Given the description of an element on the screen output the (x, y) to click on. 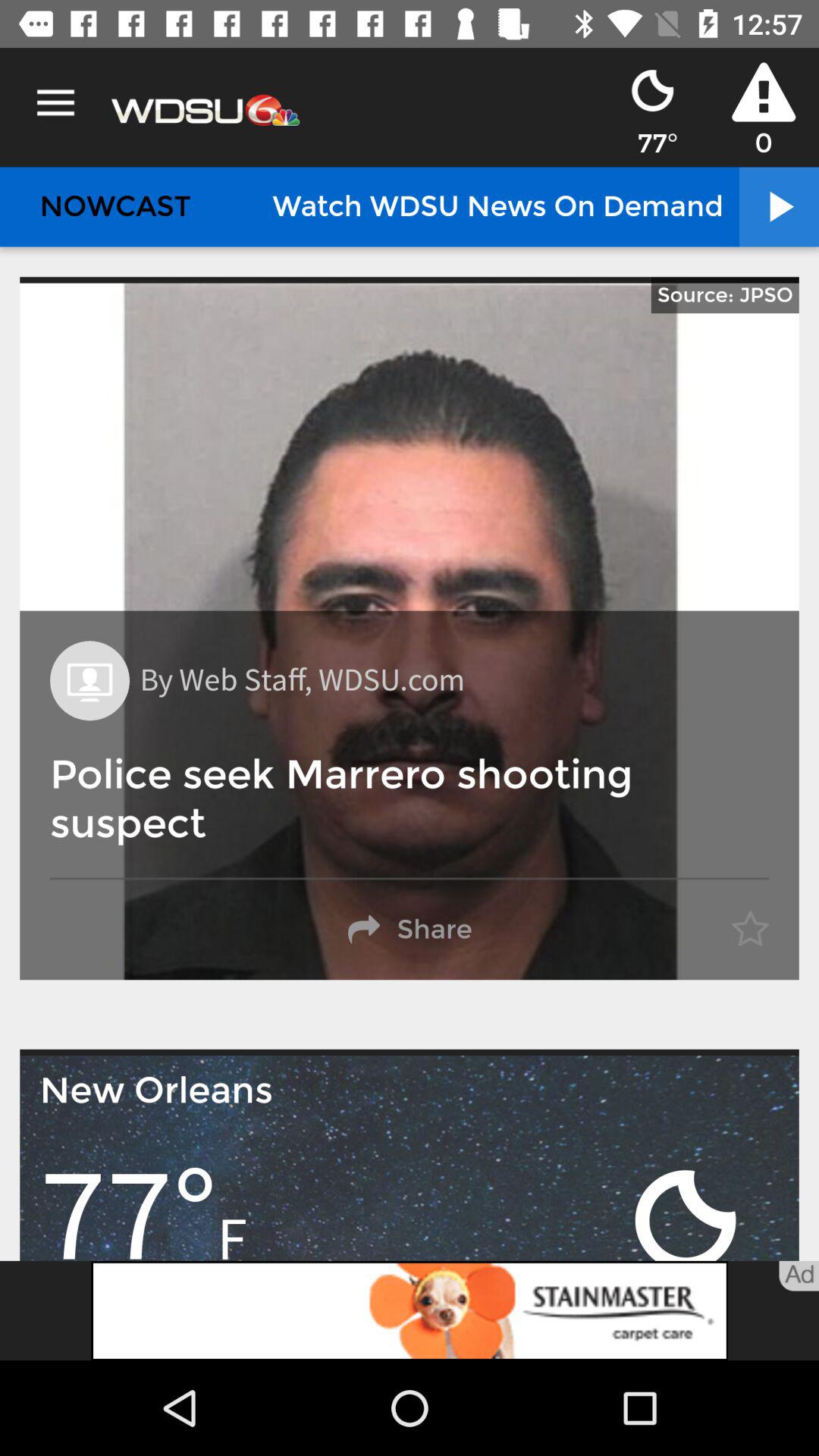
view advertisement (409, 1310)
